Given the description of an element on the screen output the (x, y) to click on. 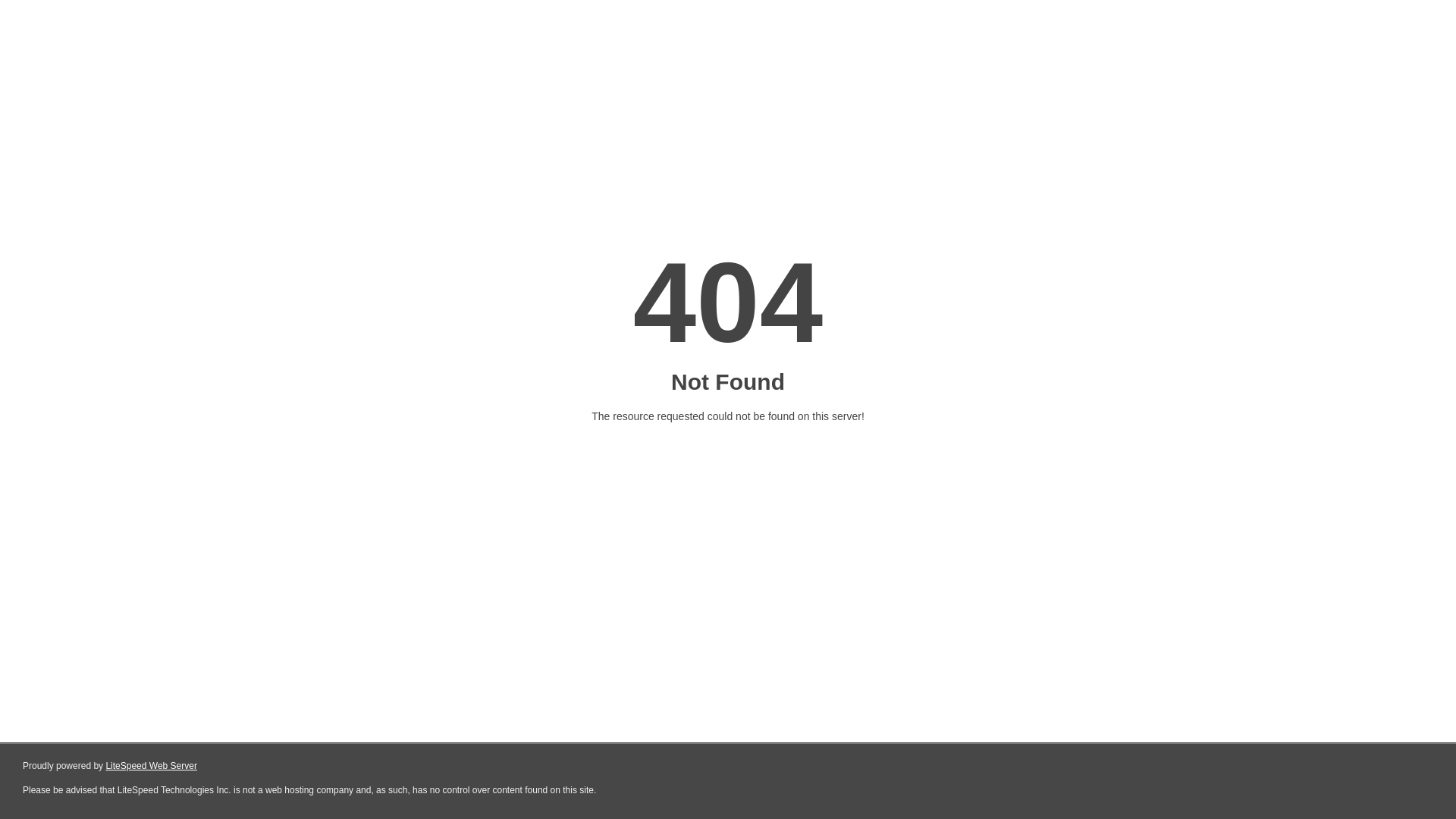
LiteSpeed Web Server Element type: text (151, 765)
